Given the description of an element on the screen output the (x, y) to click on. 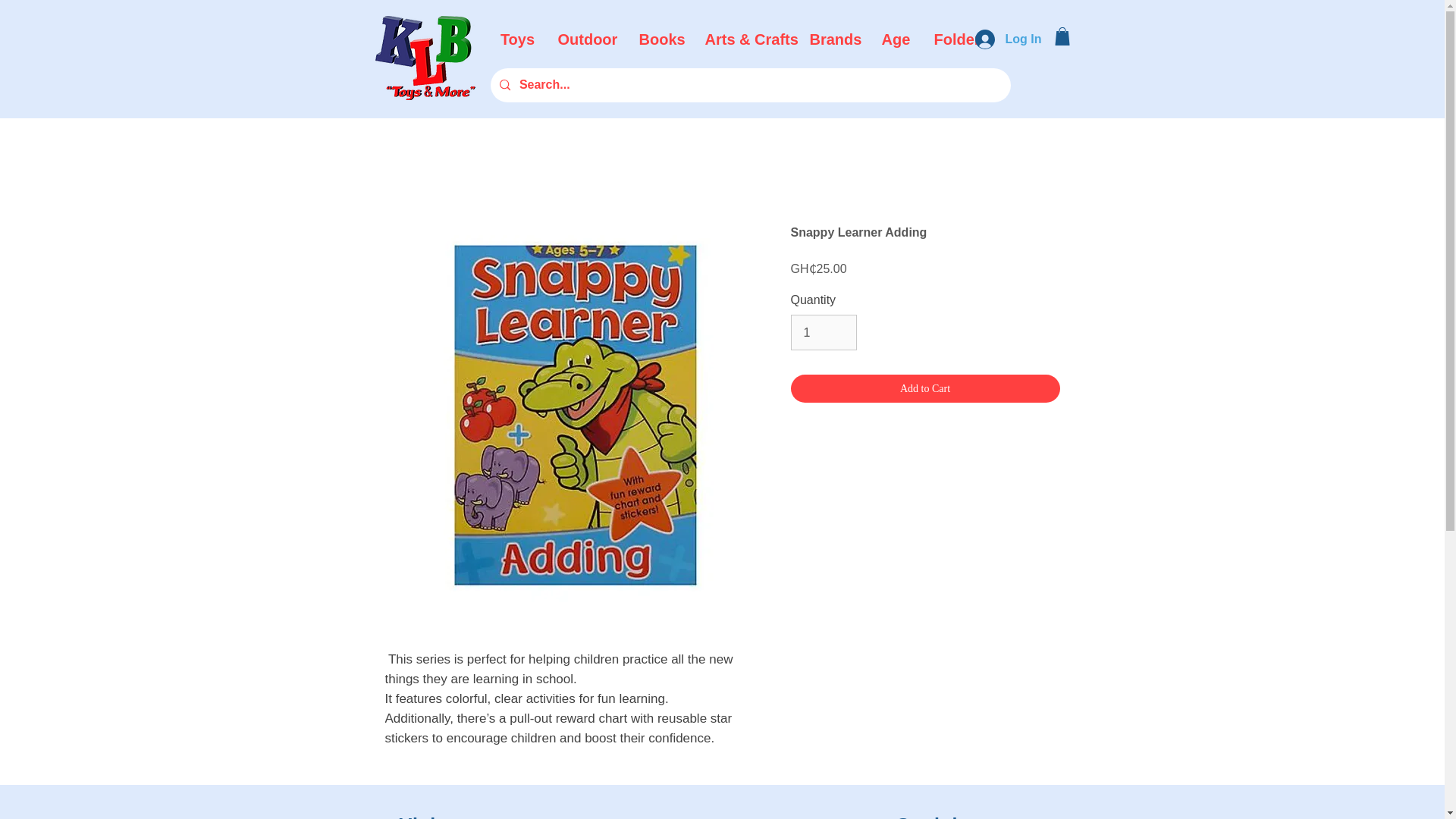
Brands (833, 39)
Age (895, 39)
Outdoor (586, 39)
Books (660, 39)
Toys (516, 39)
1 (823, 331)
